Given the description of an element on the screen output the (x, y) to click on. 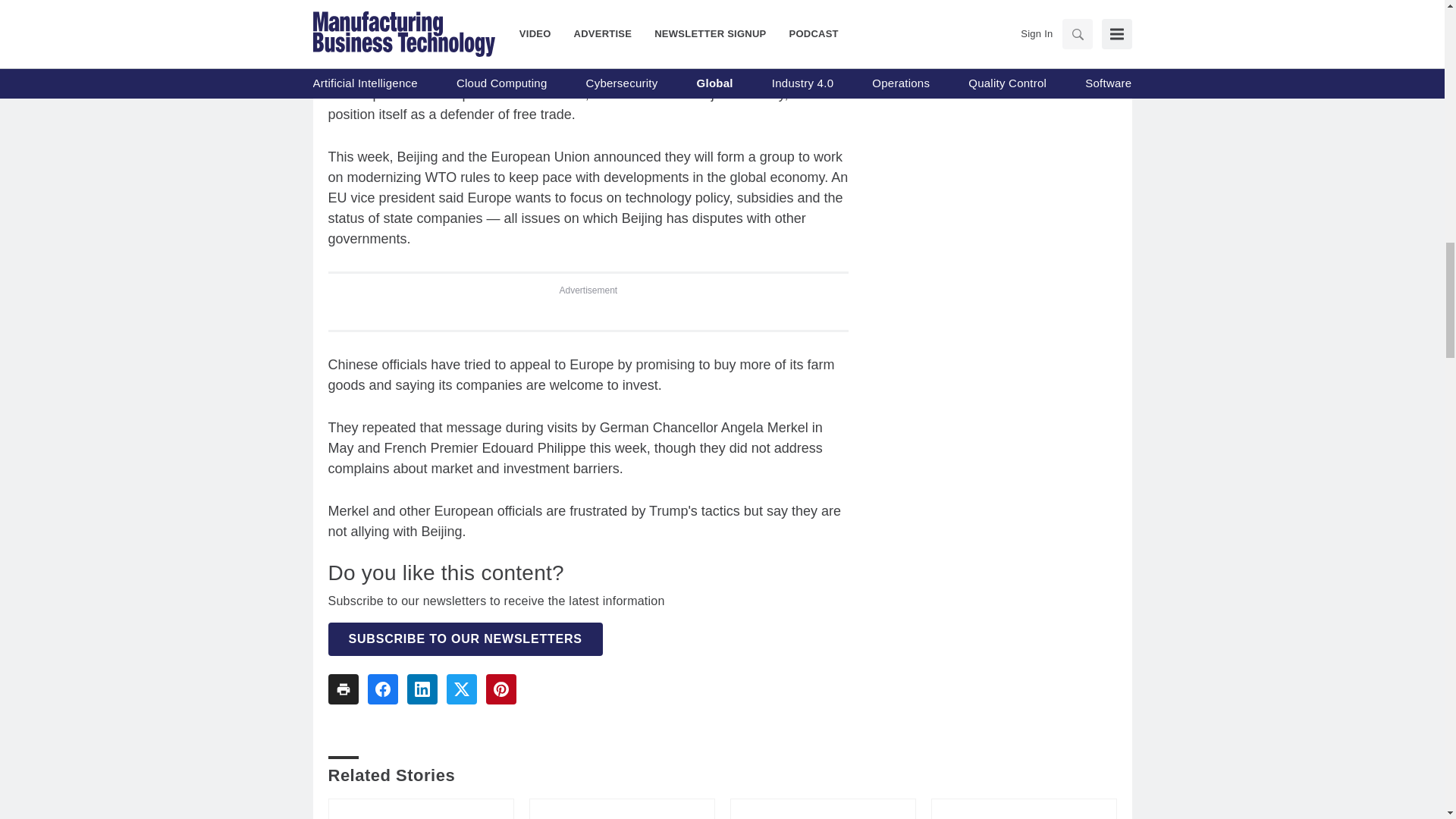
Share To print (342, 689)
Share To linkedin (421, 689)
Share To pinterest (499, 689)
Share To facebook (381, 689)
Share To twitter (460, 689)
